Given the description of an element on the screen output the (x, y) to click on. 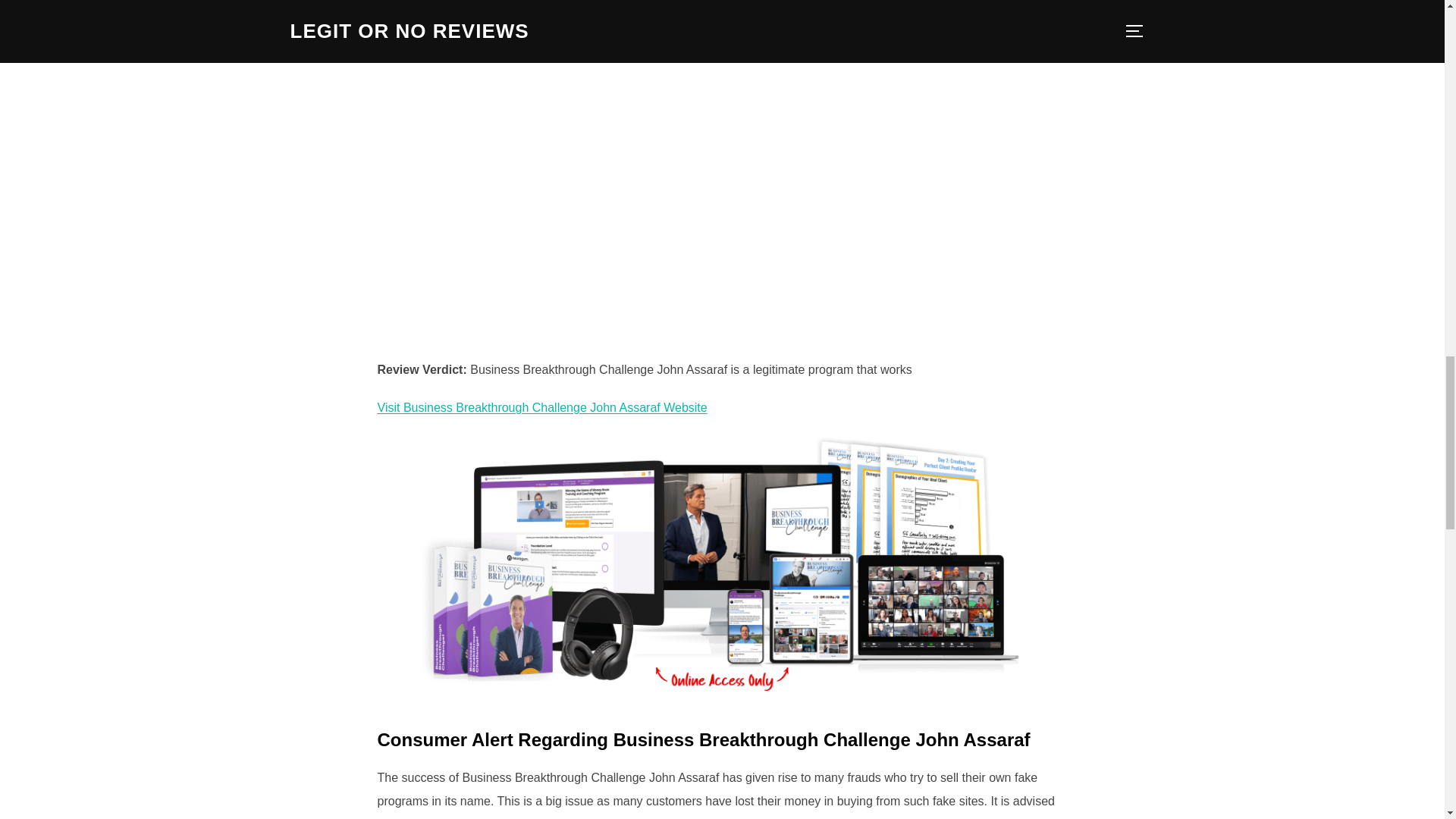
Visit Business Breakthrough Challenge John Assaraf Website (542, 407)
